Given the description of an element on the screen output the (x, y) to click on. 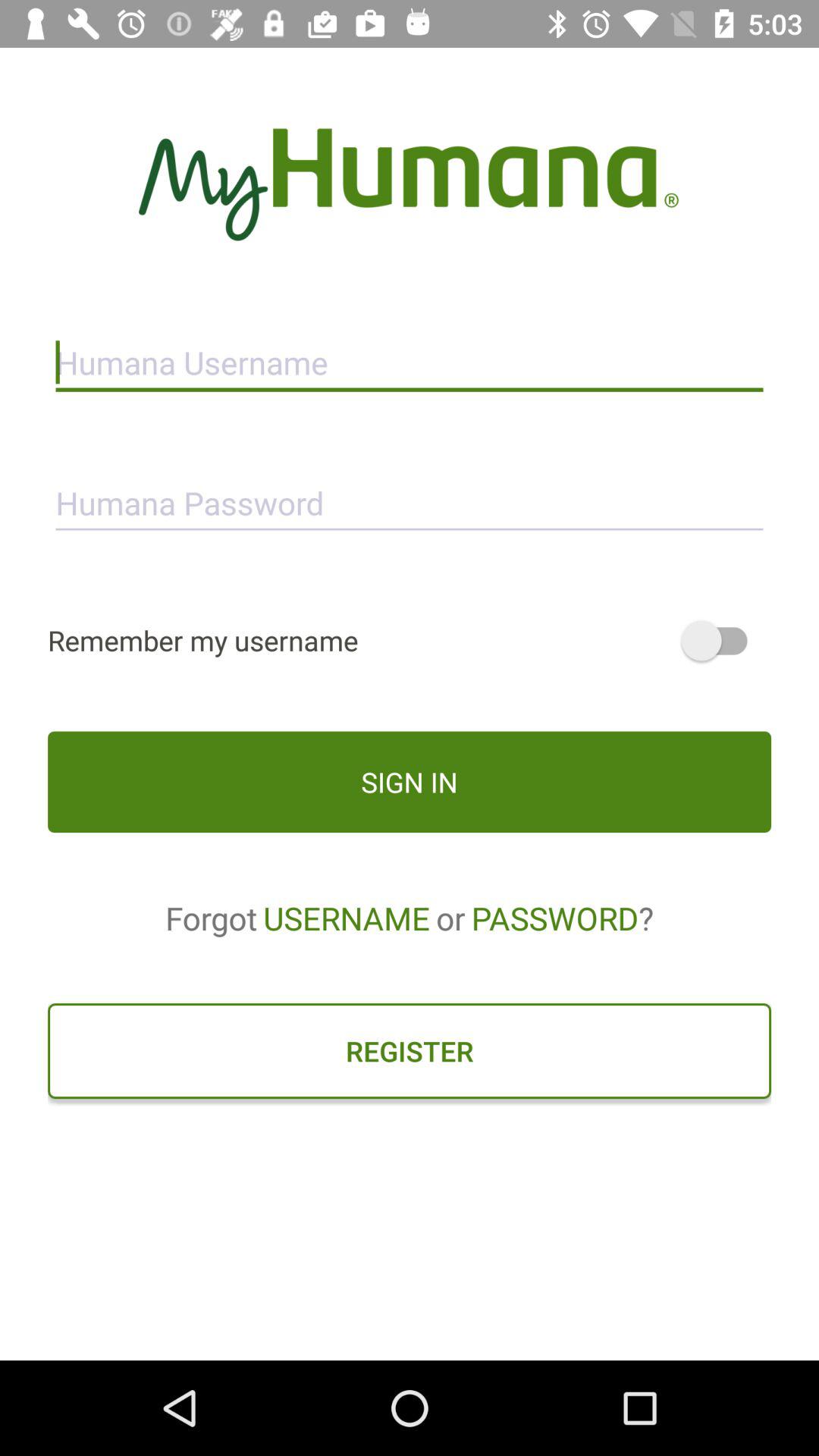
click the icon above sign in icon (409, 640)
